Given the description of an element on the screen output the (x, y) to click on. 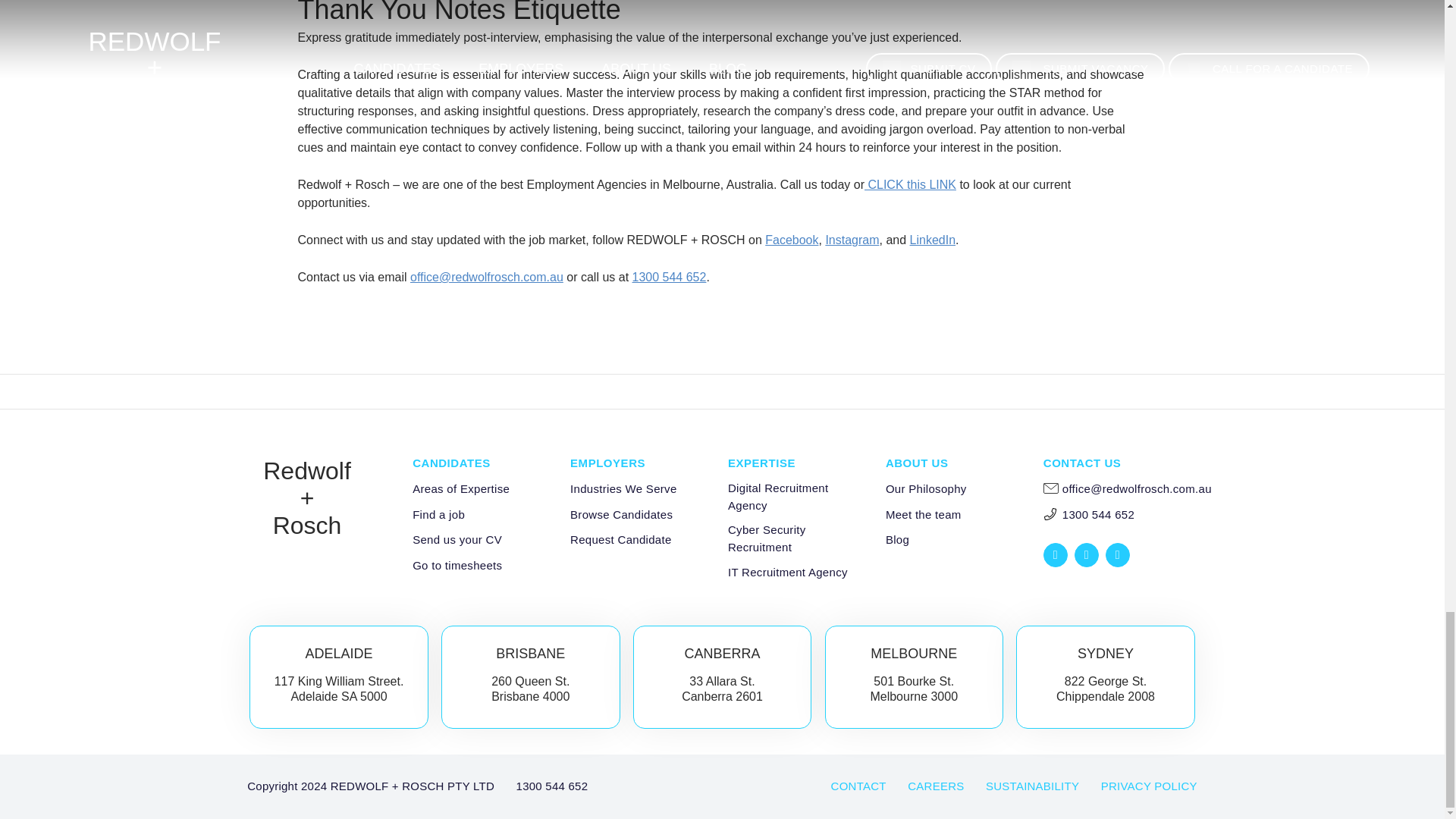
CONTACT (858, 785)
Facebook (791, 239)
LinkedIn (933, 239)
IT Recruitment Agency (787, 572)
 CLICK this LINK (910, 184)
Industries We Serve (623, 488)
Request Candidate (620, 539)
Find a job (438, 515)
Meet the team (922, 515)
SUSTAINABILITY (1031, 785)
